Given the description of an element on the screen output the (x, y) to click on. 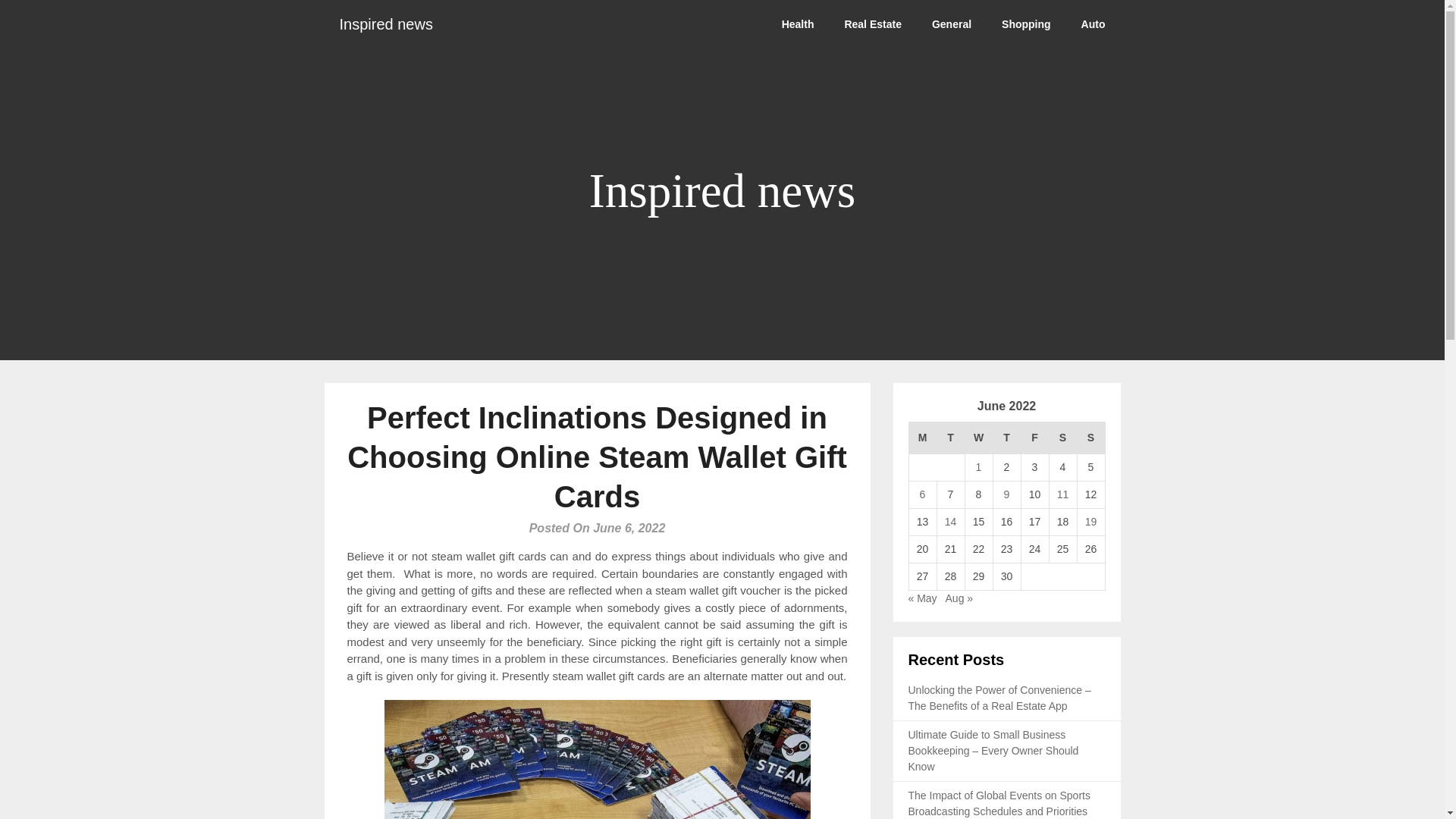
Inspired news (386, 24)
Auto (1093, 24)
19 (1090, 521)
Health (798, 24)
Shopping (1026, 24)
14 (950, 521)
11 (1062, 494)
Real Estate (871, 24)
General (952, 24)
